Given the description of an element on the screen output the (x, y) to click on. 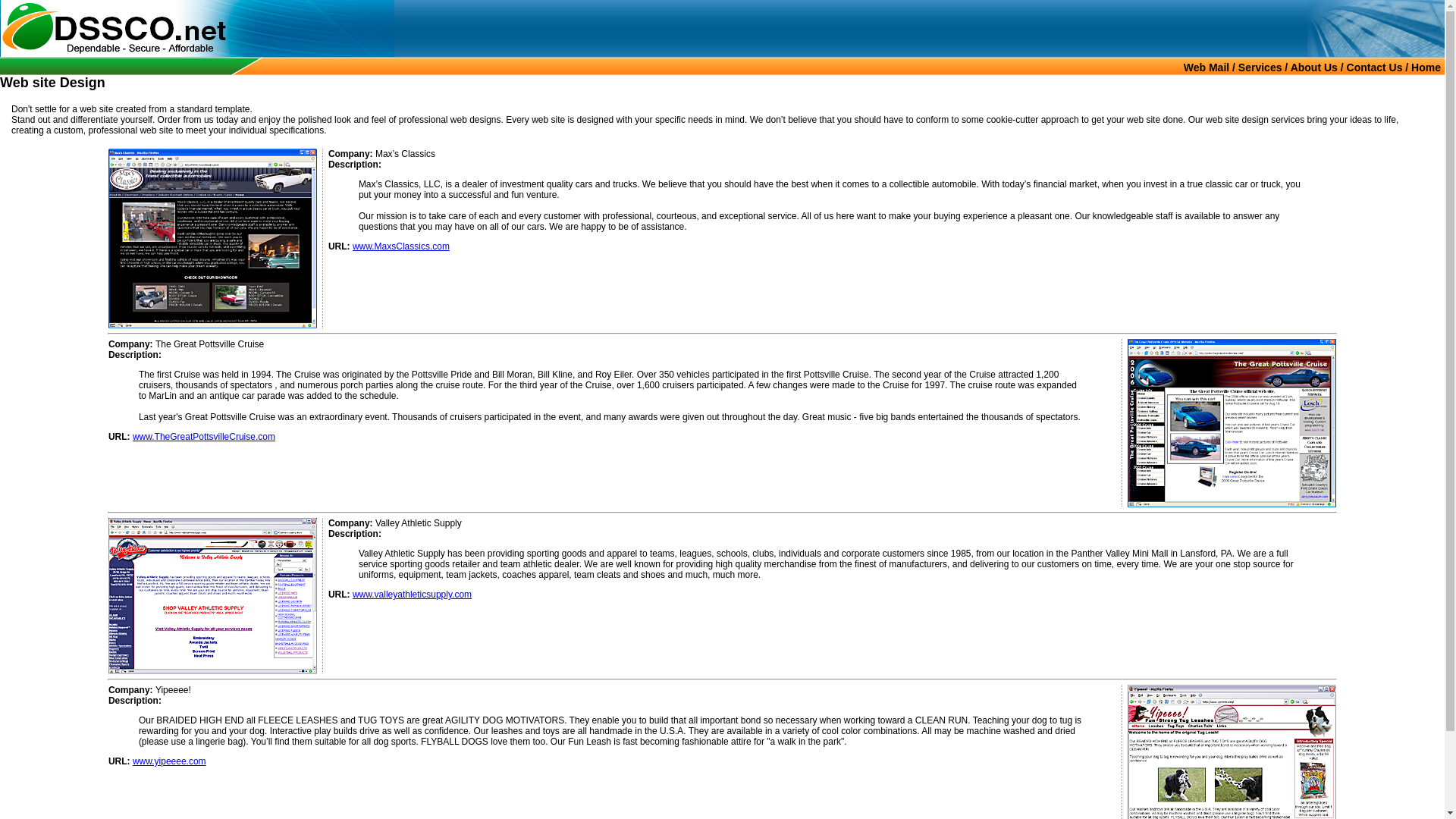
Web Mail (1205, 67)
Contact Us (1374, 67)
www.yipeeee.com (169, 760)
Services (1260, 67)
www.valleyathleticsupply.com (411, 593)
About Us (1314, 67)
www.MaxsClassics.com (400, 245)
www.TheGreatPottsvilleCruise.com (203, 436)
Home (1425, 67)
